Given the description of an element on the screen output the (x, y) to click on. 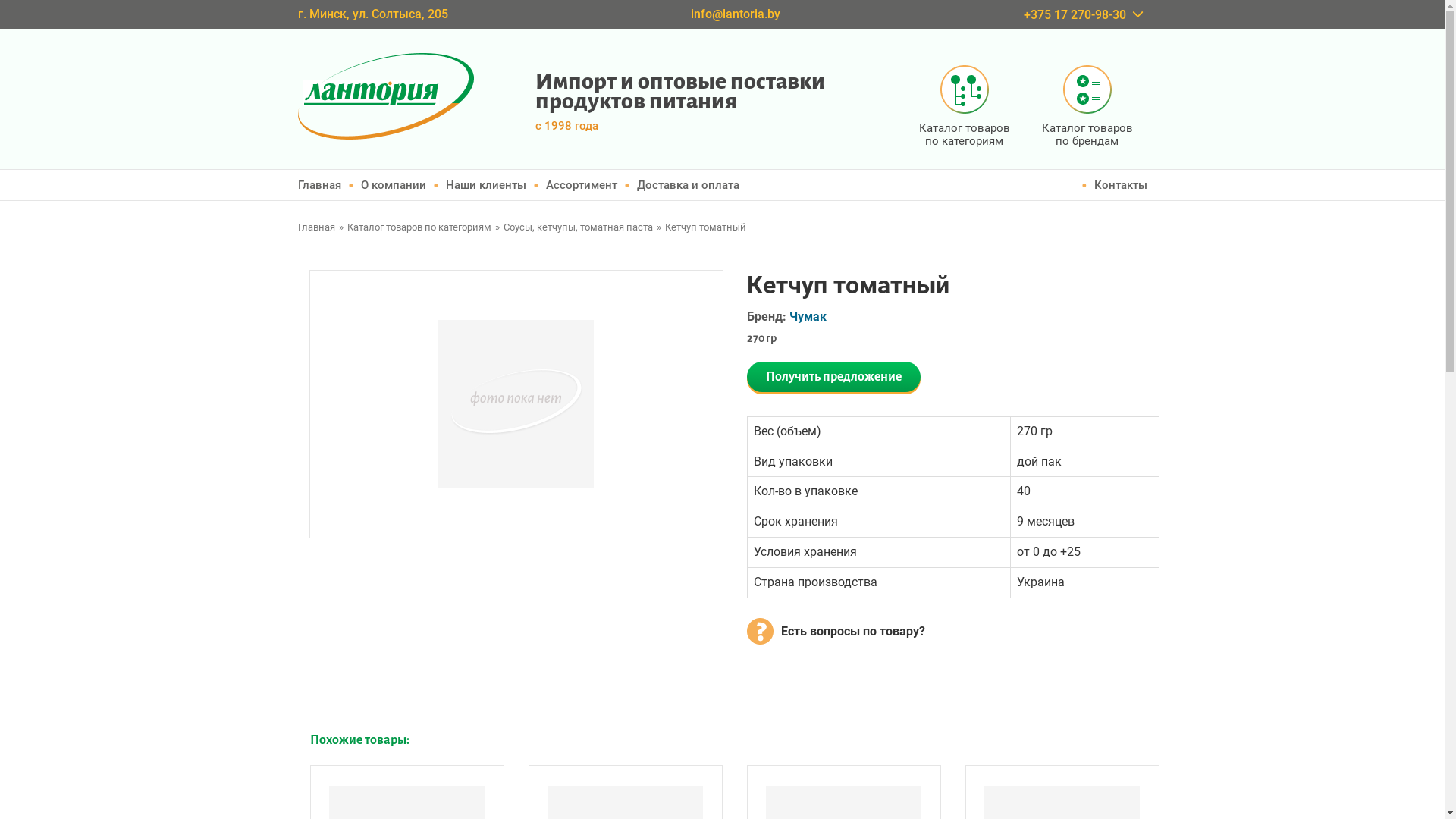
info@lantoria.by Element type: text (735, 14)
+375 17 270-98-30 Element type: text (1074, 14)
